Given the description of an element on the screen output the (x, y) to click on. 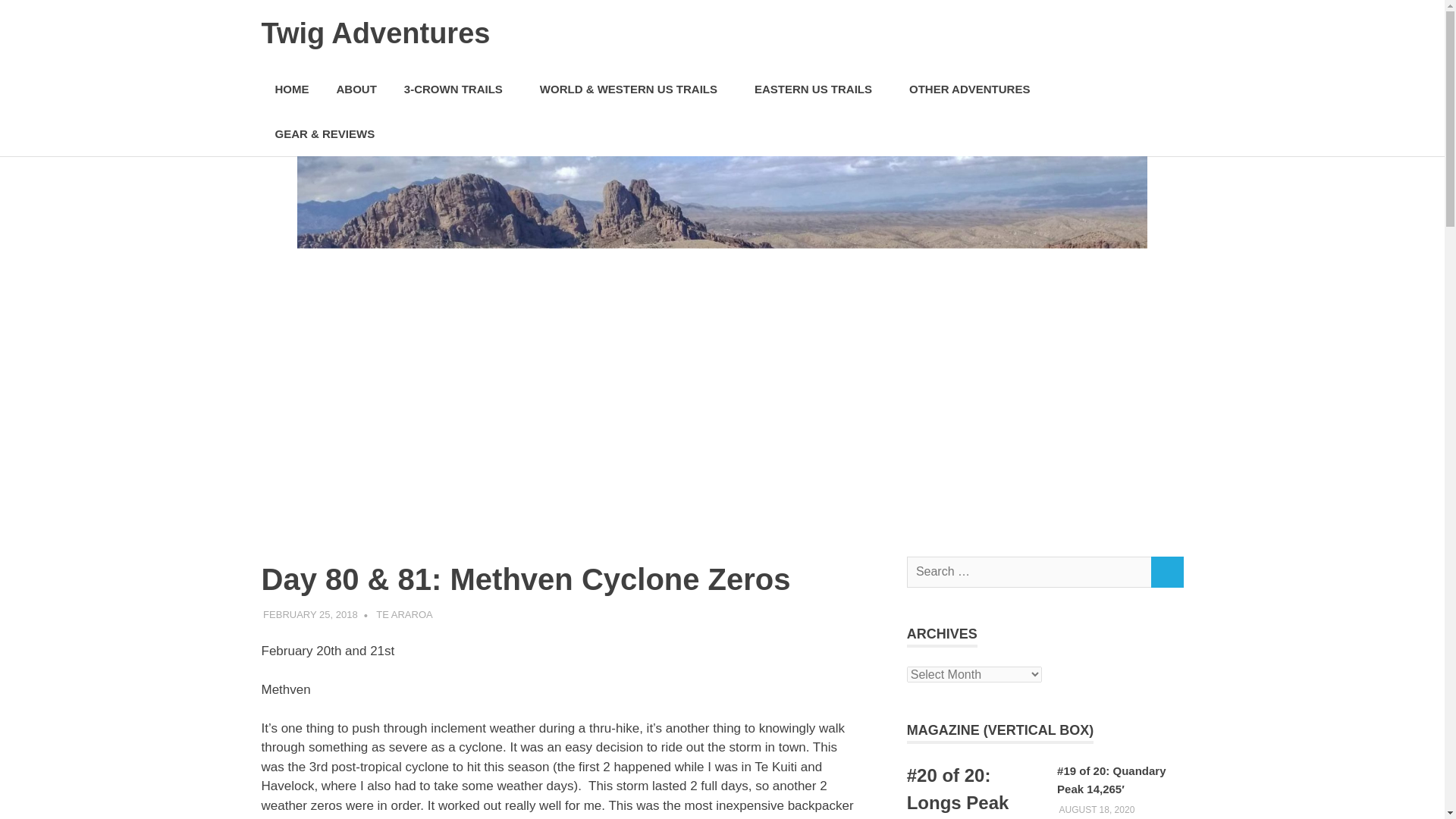
Search for: (1029, 572)
ABOUT (356, 89)
View all posts by kaulua26 (398, 613)
20:20 (1096, 809)
21:10 (310, 613)
Twig Adventures (374, 33)
View all posts from category 14ers (1000, 729)
EASTERN US TRAILS (818, 89)
OTHER ADVENTURES (973, 89)
HOME (290, 89)
